Given the description of an element on the screen output the (x, y) to click on. 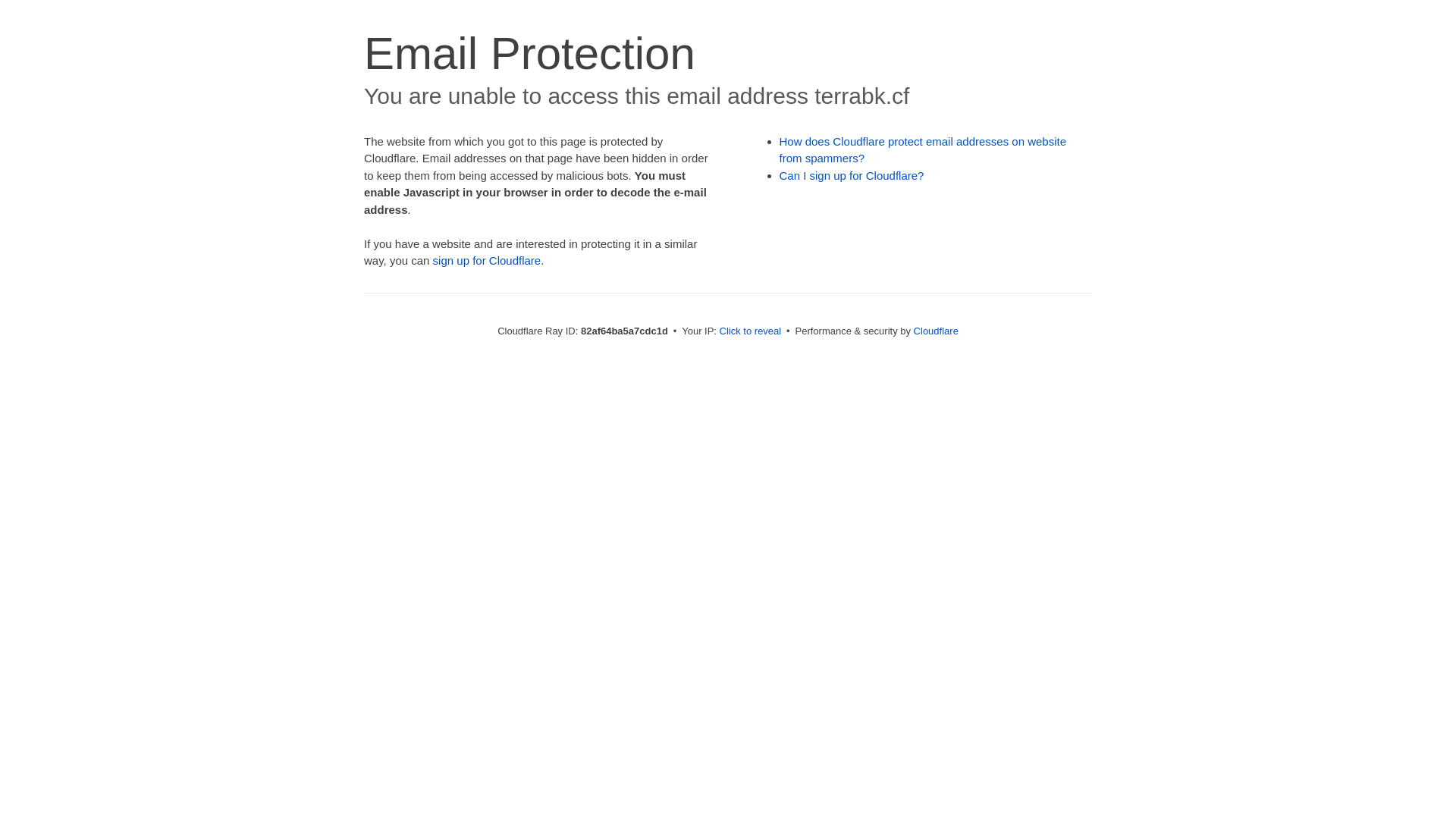
Cloudflare Element type: text (935, 330)
sign up for Cloudflare Element type: text (487, 260)
Click to reveal Element type: text (750, 330)
Can I sign up for Cloudflare? Element type: text (851, 175)
